Given the description of an element on the screen output the (x, y) to click on. 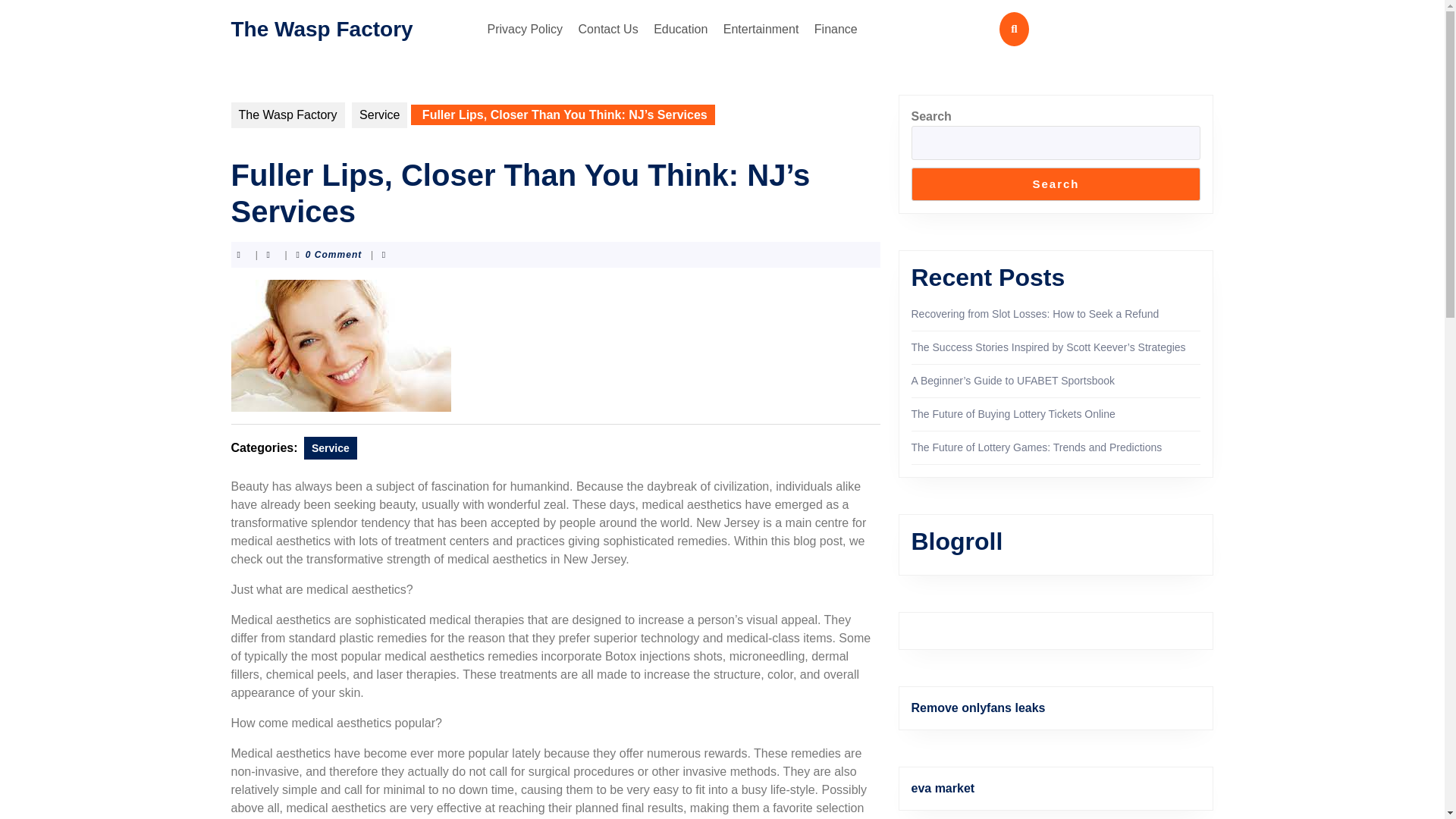
Service (330, 447)
Education (680, 28)
Entertainment (761, 28)
Privacy Policy (524, 28)
Service (379, 114)
Search (1056, 183)
Recovering from Slot Losses: How to Seek a Refund (1034, 313)
The Wasp Factory (321, 28)
The Wasp Factory (286, 114)
Contact Us (608, 28)
